Given the description of an element on the screen output the (x, y) to click on. 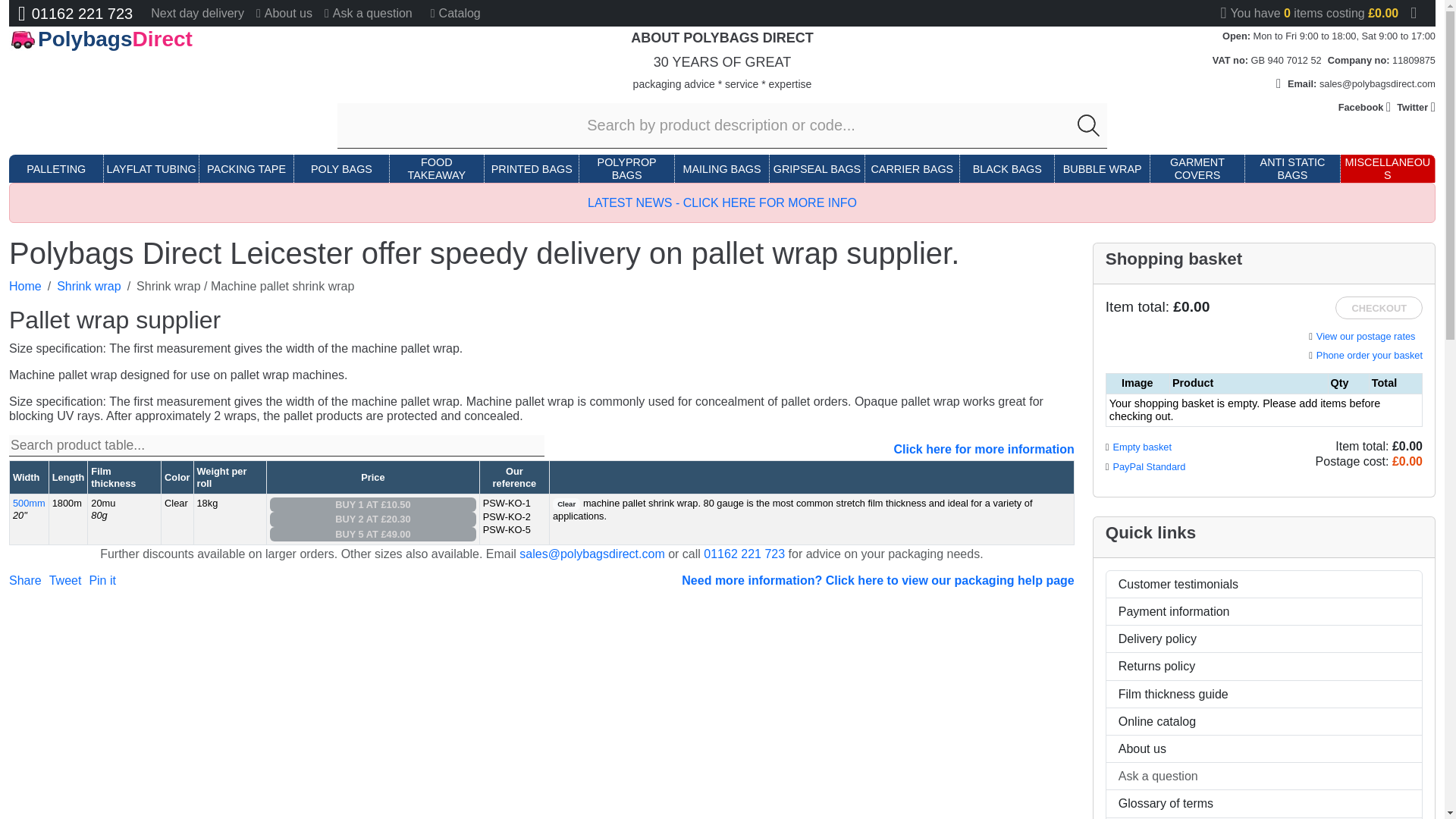
FOOD TAKEAWAY (436, 169)
Facebook (1364, 107)
PolybagsDirect (151, 39)
Catalog (455, 13)
PALLETING (55, 169)
POLY BAGS (341, 169)
Twitter (1415, 107)
CARRIER BAGS (911, 169)
LAYFLAT TUBING (151, 169)
GARMENT COVERS (1197, 169)
